Given the description of an element on the screen output the (x, y) to click on. 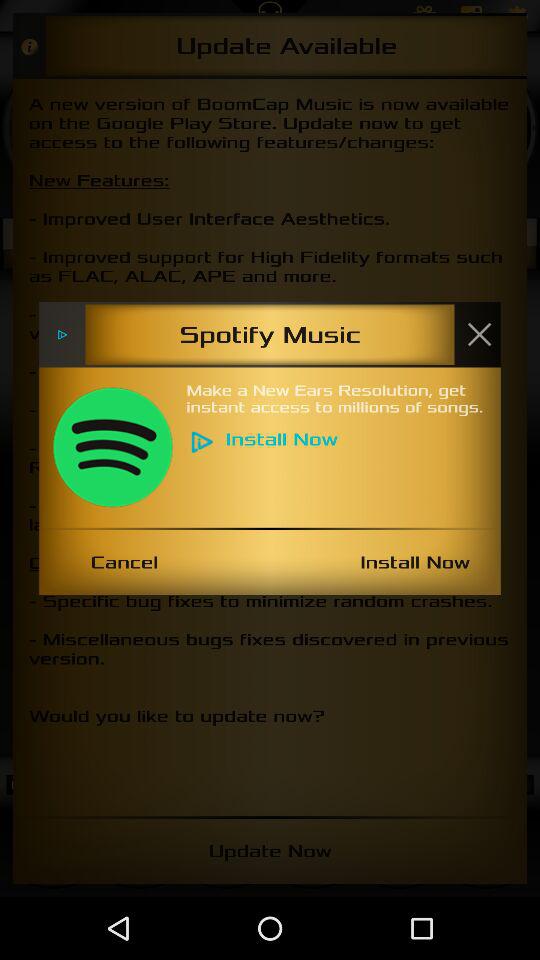
press item next to the spotify music (479, 334)
